Given the description of an element on the screen output the (x, y) to click on. 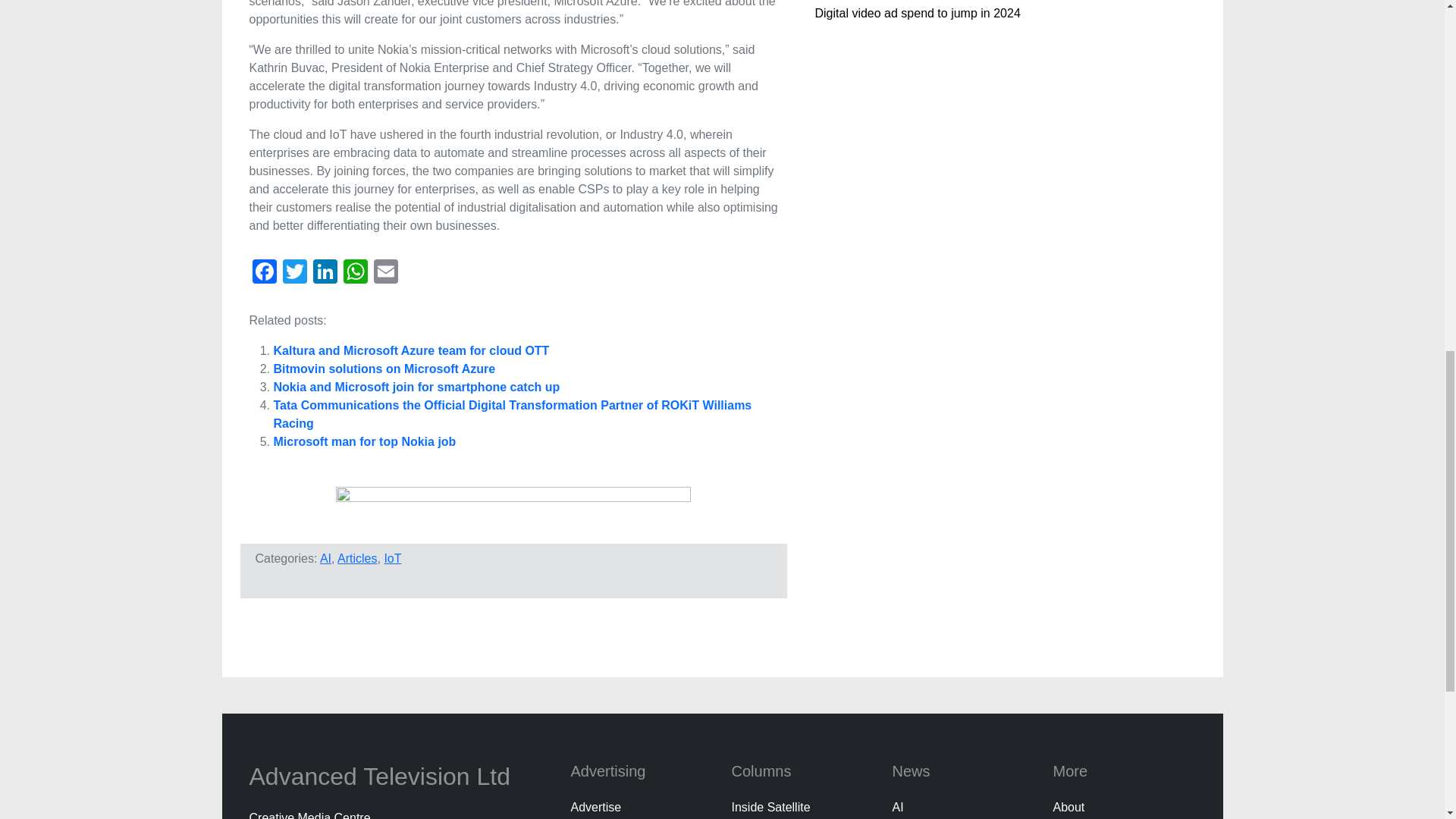
Kaltura and Microsoft Azure team for cloud OTT (410, 350)
Kaltura and Microsoft Azure team for cloud OTT (410, 350)
Microsoft man for top Nokia job (364, 440)
WhatsApp (354, 273)
Microsoft man for top Nokia job (364, 440)
IoT (392, 558)
LinkedIn (323, 273)
Twitter (293, 273)
WhatsApp (354, 273)
Bitmovin solutions on Microsoft Azure (384, 368)
LinkedIn (323, 273)
Twitter (293, 273)
Email (384, 273)
